Given the description of an element on the screen output the (x, y) to click on. 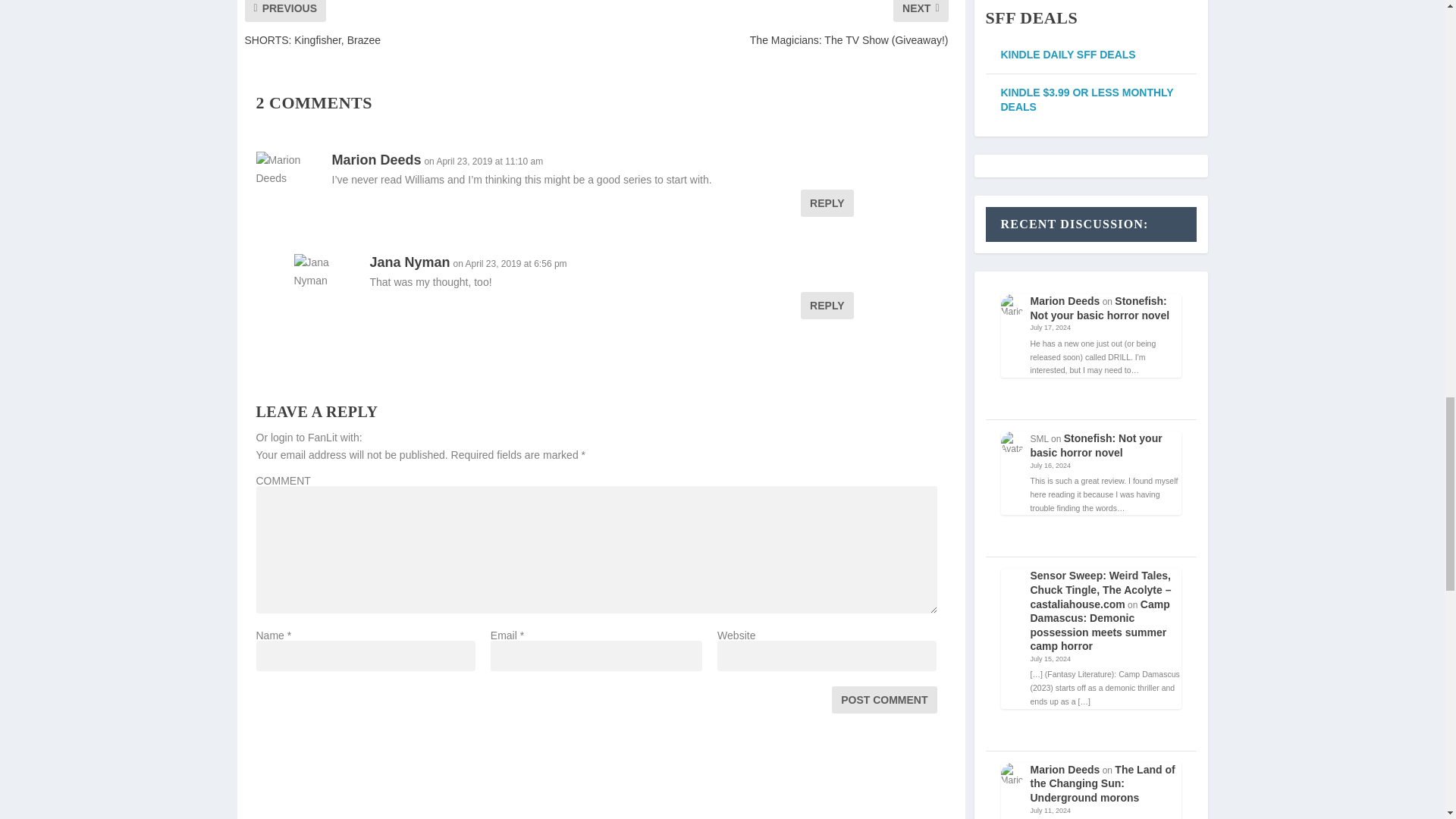
Post Comment (883, 699)
